Given the description of an element on the screen output the (x, y) to click on. 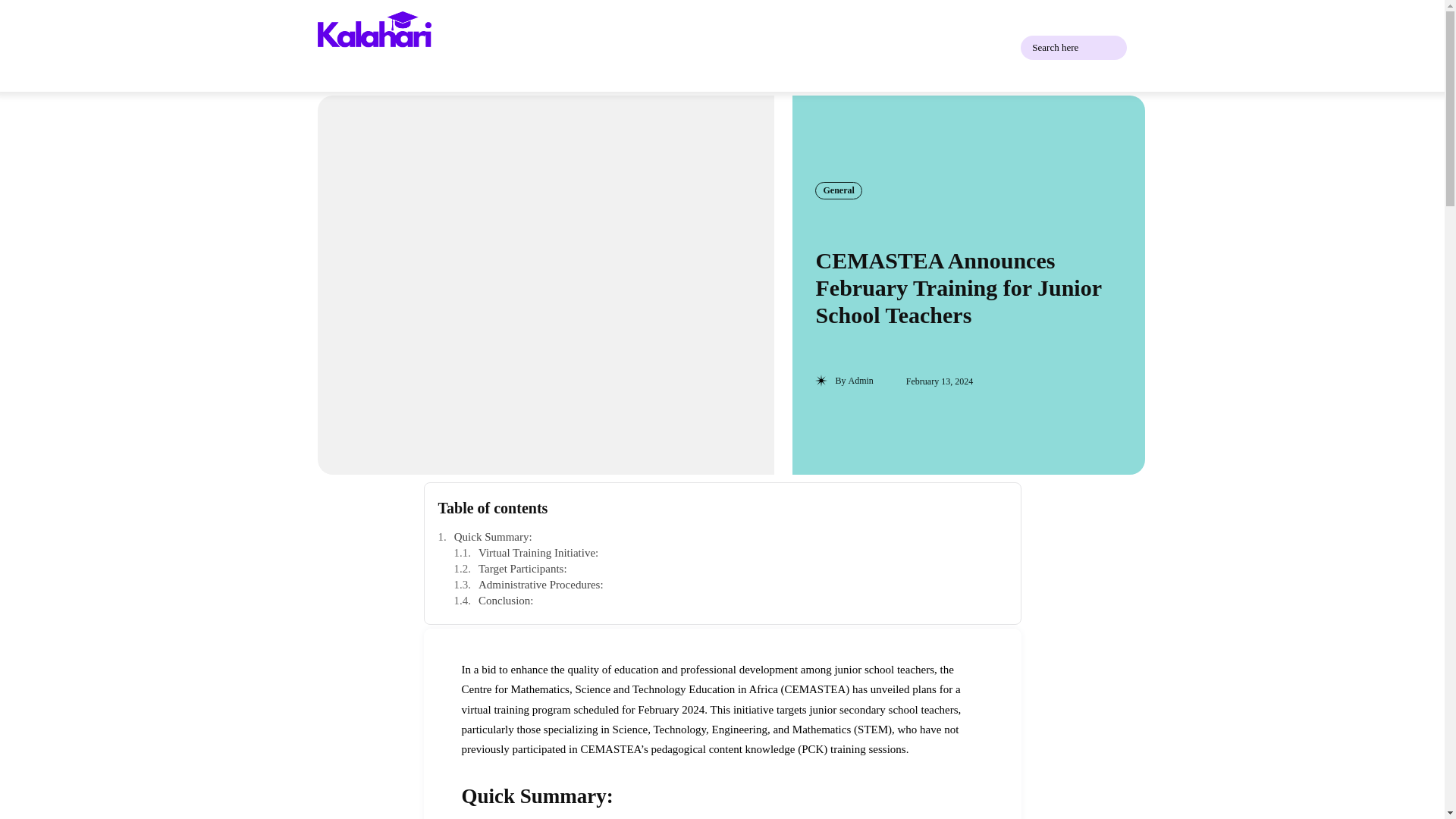
General (838, 190)
Administrative Procedures: (729, 584)
Virtual Training Initiative: (729, 553)
Conclusion: (729, 600)
Quick Summary: (722, 537)
Admin (859, 380)
Target Participants: (729, 569)
